Given the description of an element on the screen output the (x, y) to click on. 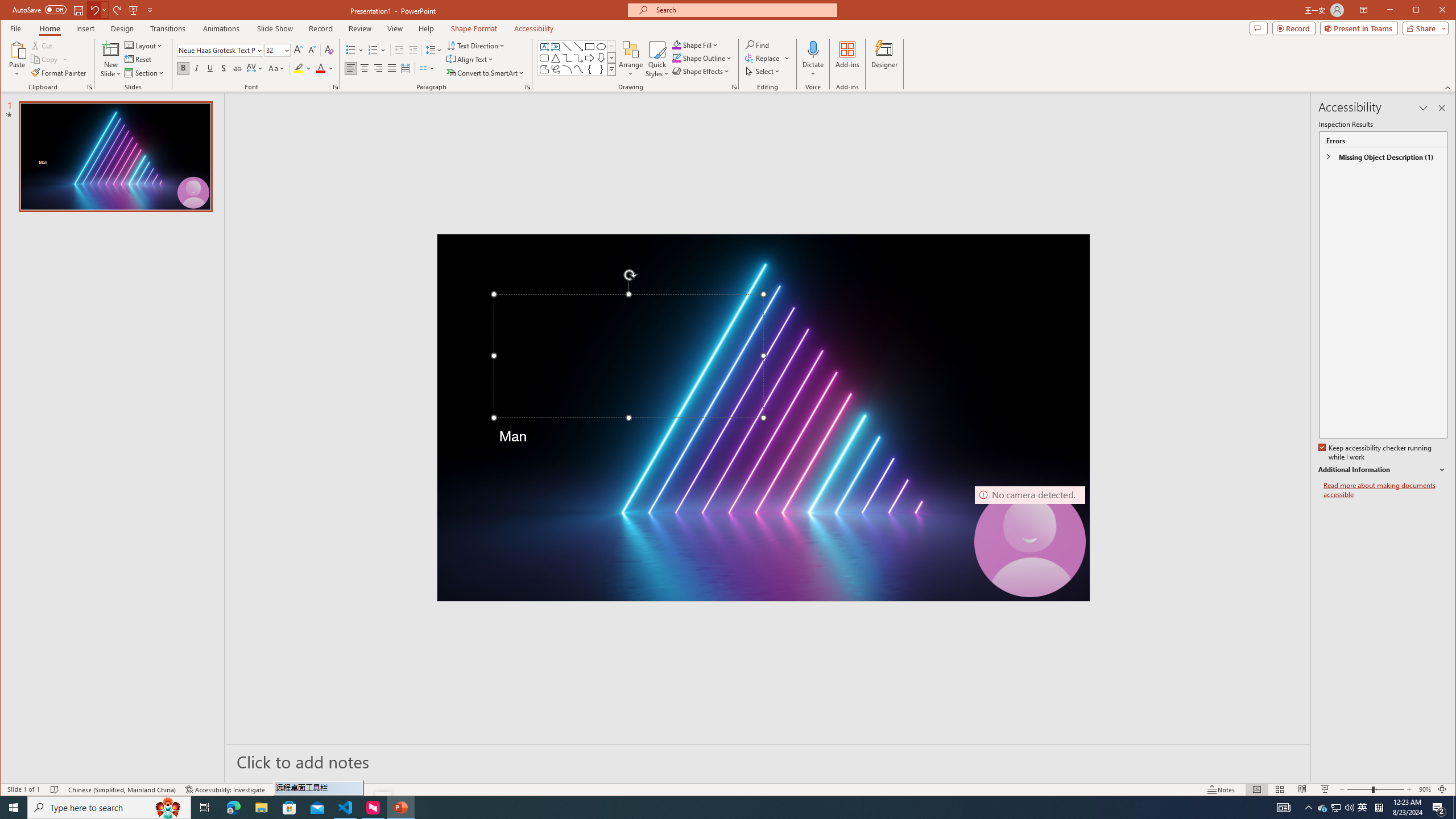
Format Object... (733, 86)
Camera 7, No camera detected. (1030, 541)
Strikethrough (237, 68)
Font... (335, 86)
Character Spacing (254, 68)
Italic (196, 68)
Quick Styles (658, 59)
Slide (115, 156)
Copy (45, 59)
Replace... (763, 57)
